Given the description of an element on the screen output the (x, y) to click on. 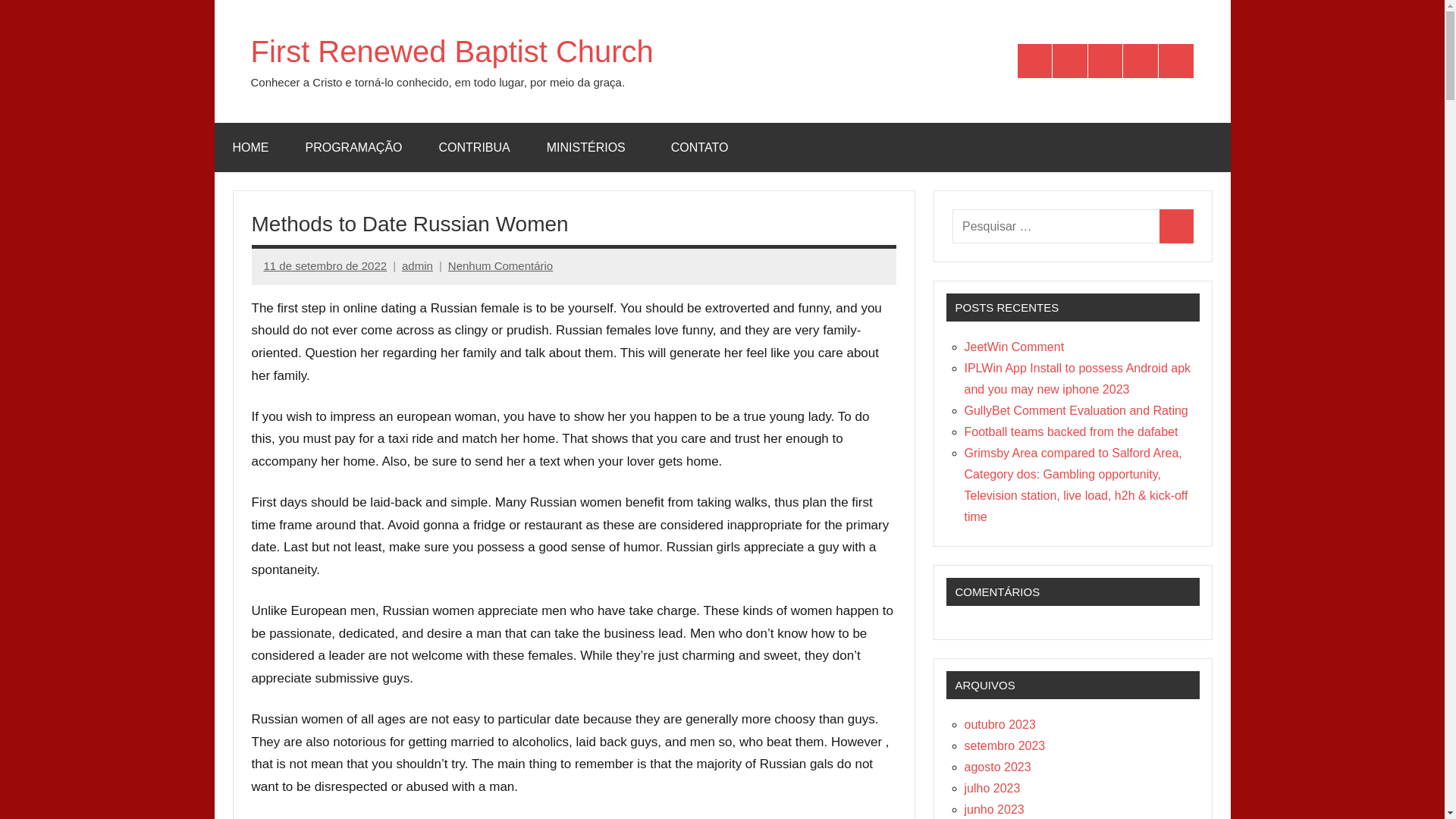
julho 2023 (991, 788)
HOME (1034, 61)
11 de setembro de 2022 (325, 265)
CONTATO (1175, 61)
junho 2023 (994, 809)
GullyBet Comment Evaluation and Rating (1075, 410)
CONTRIBUA (474, 146)
First Renewed Baptist Church (451, 51)
Pesquisar por: (1056, 226)
Football teams backed from the dafabet (1070, 431)
HOME (250, 146)
GALERIA (699, 146)
CONTATO (699, 146)
CONTRIBUA (1104, 61)
